Given the description of an element on the screen output the (x, y) to click on. 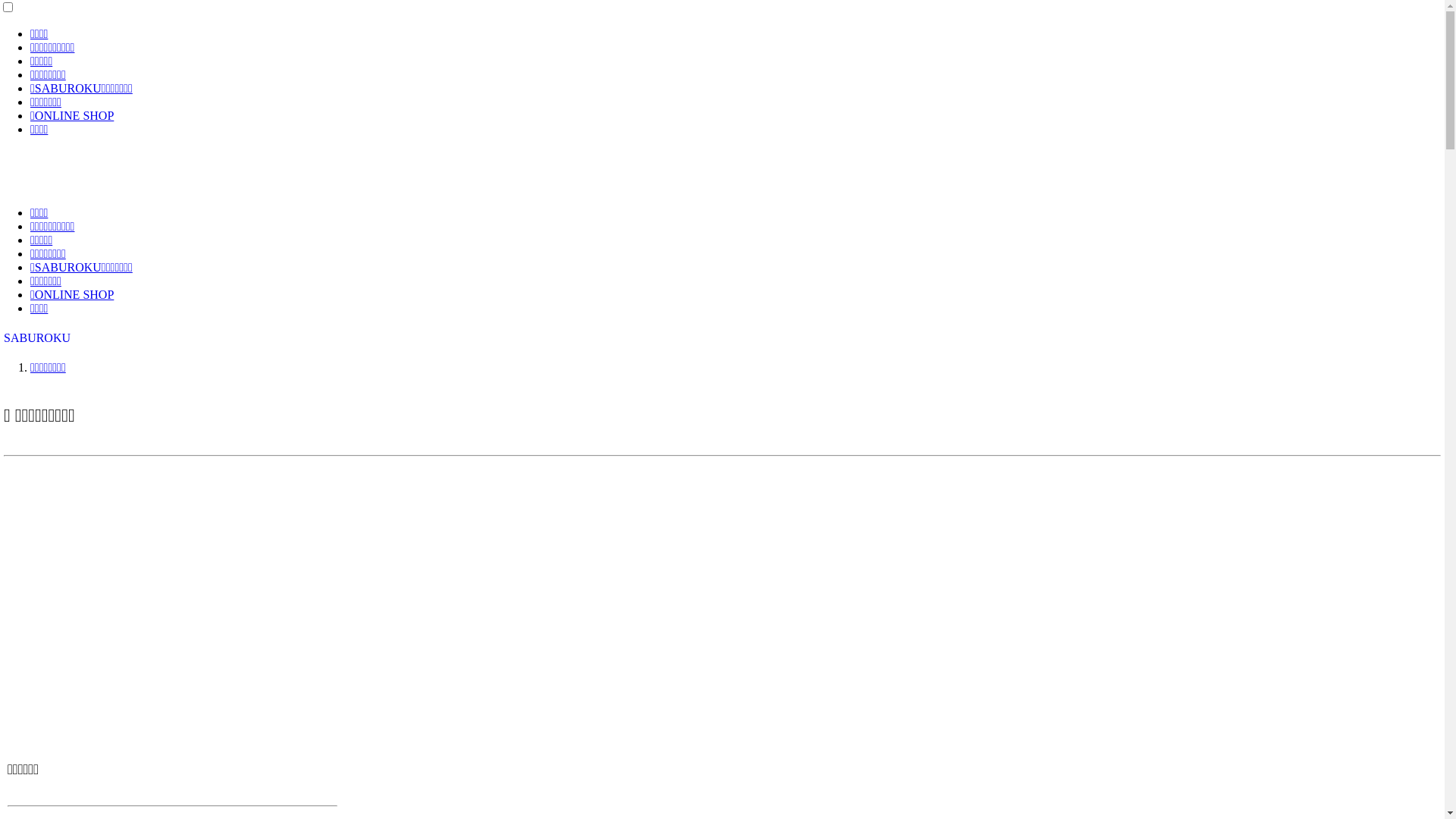
SABUROKU Element type: text (36, 337)
